Given the description of an element on the screen output the (x, y) to click on. 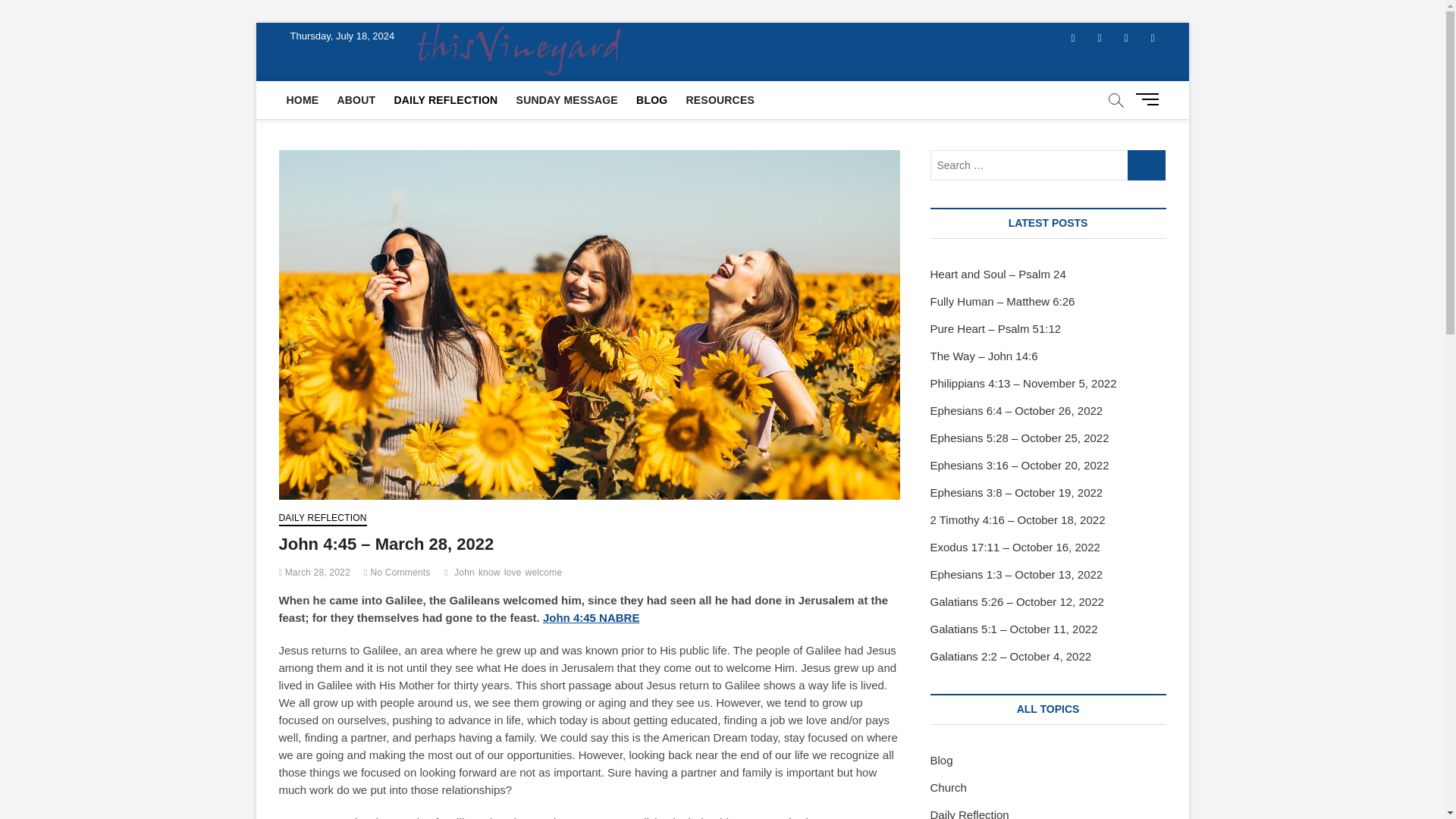
love (514, 574)
linkedin (1152, 38)
facebook (1072, 38)
twitter (1099, 38)
SUNDAY MESSAGE (567, 99)
BLOG (651, 99)
No Comments (396, 572)
Menu Button (1150, 98)
DAILY REFLECTION (445, 99)
HOME (302, 99)
RESOURCES (719, 99)
instagram (1126, 38)
know (491, 574)
John (466, 574)
